Given the description of an element on the screen output the (x, y) to click on. 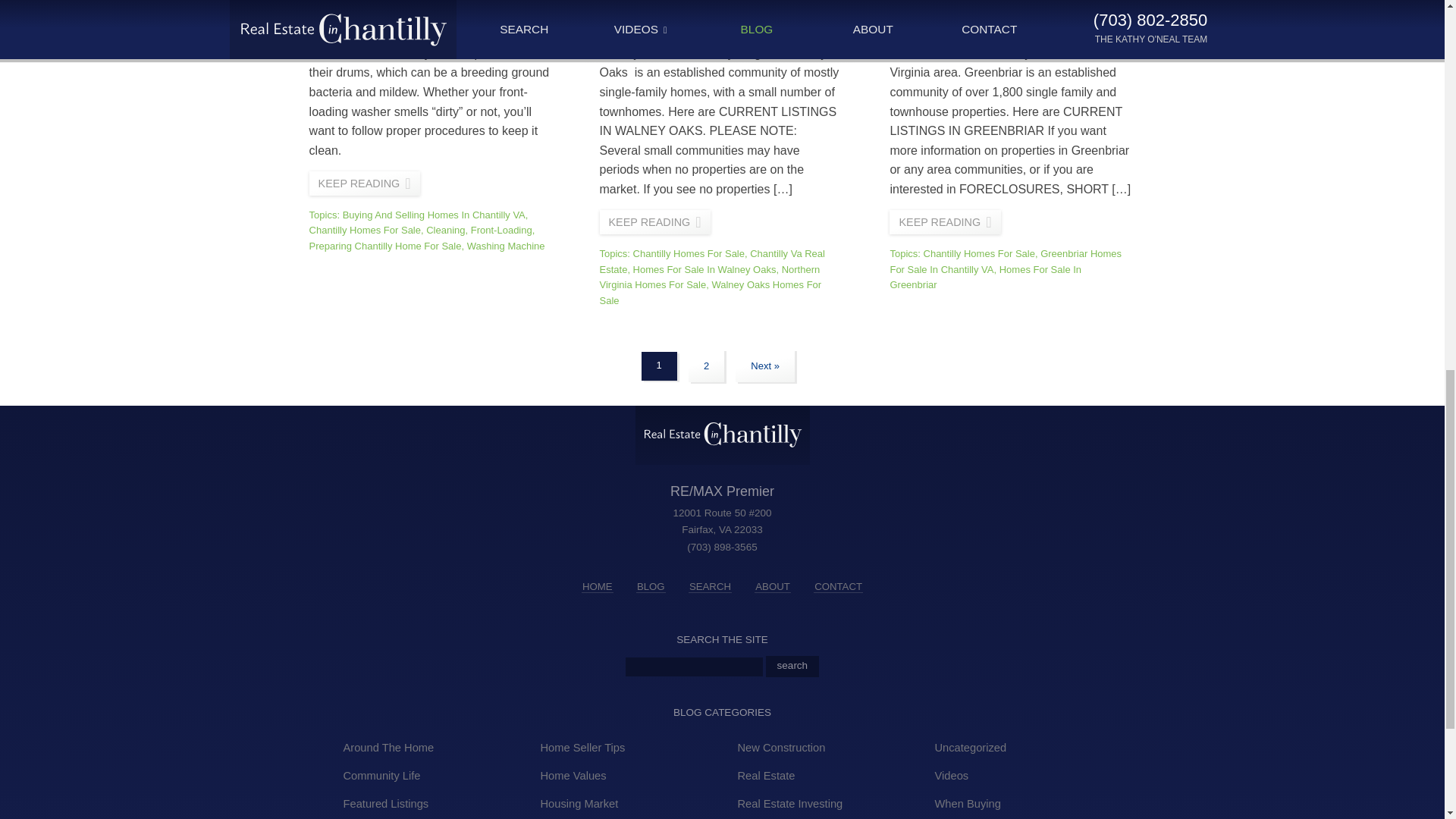
Search (792, 666)
Community Spotlight: Walney Oaks in Chantilly VA (718, 7)
Keep Your Front-Loading Washing Machine Fresh (424, 7)
Keep Your Front-Loading Washing Machine Fresh (364, 183)
Community Spotlight: Walney Oaks in Chantilly VA (654, 221)
